Given the description of an element on the screen output the (x, y) to click on. 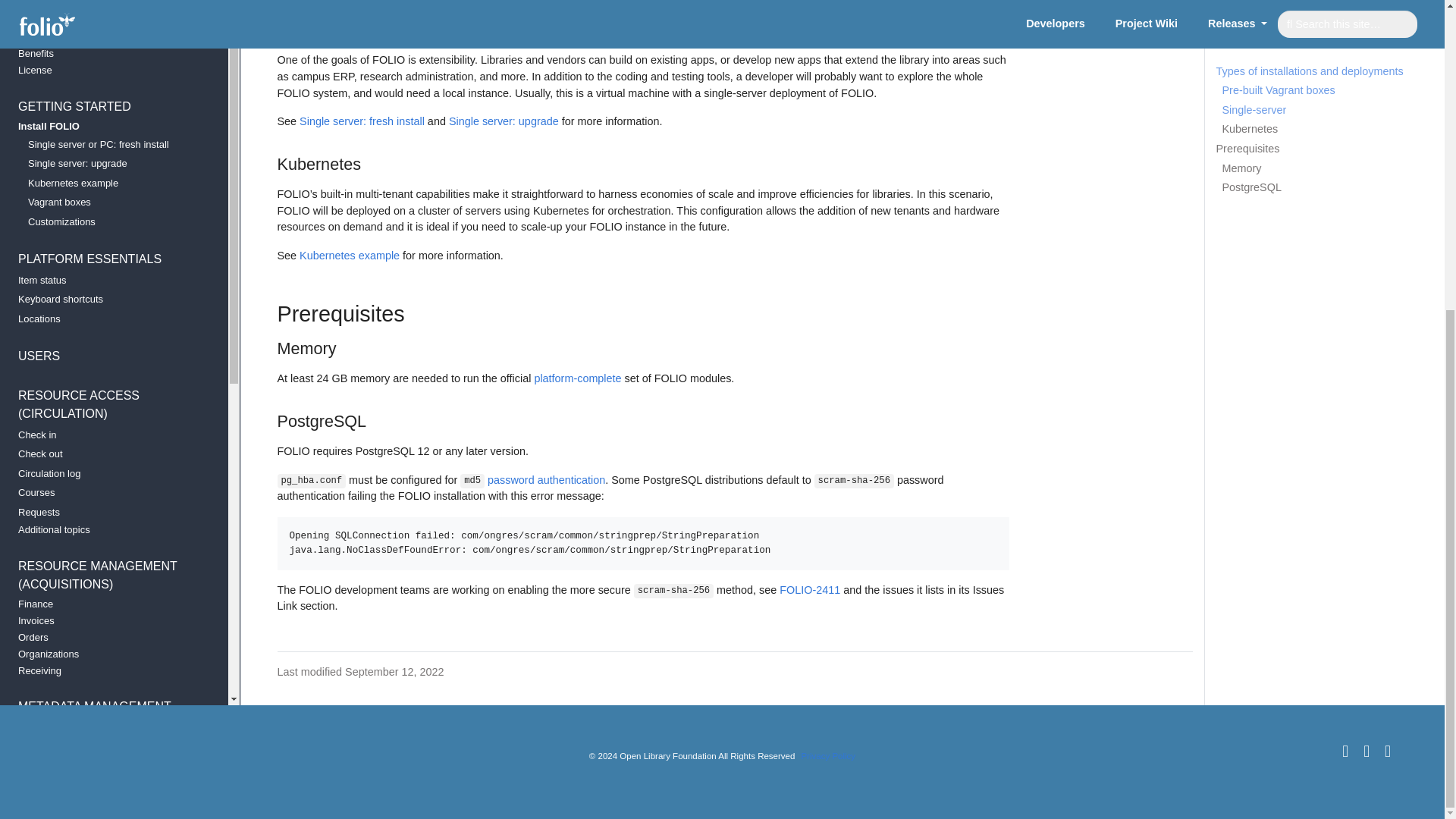
Circulation log (107, 86)
Requests (107, 125)
Check out (107, 66)
Courses (107, 105)
Additional topics (107, 142)
Check in (107, 47)
